Given the description of an element on the screen output the (x, y) to click on. 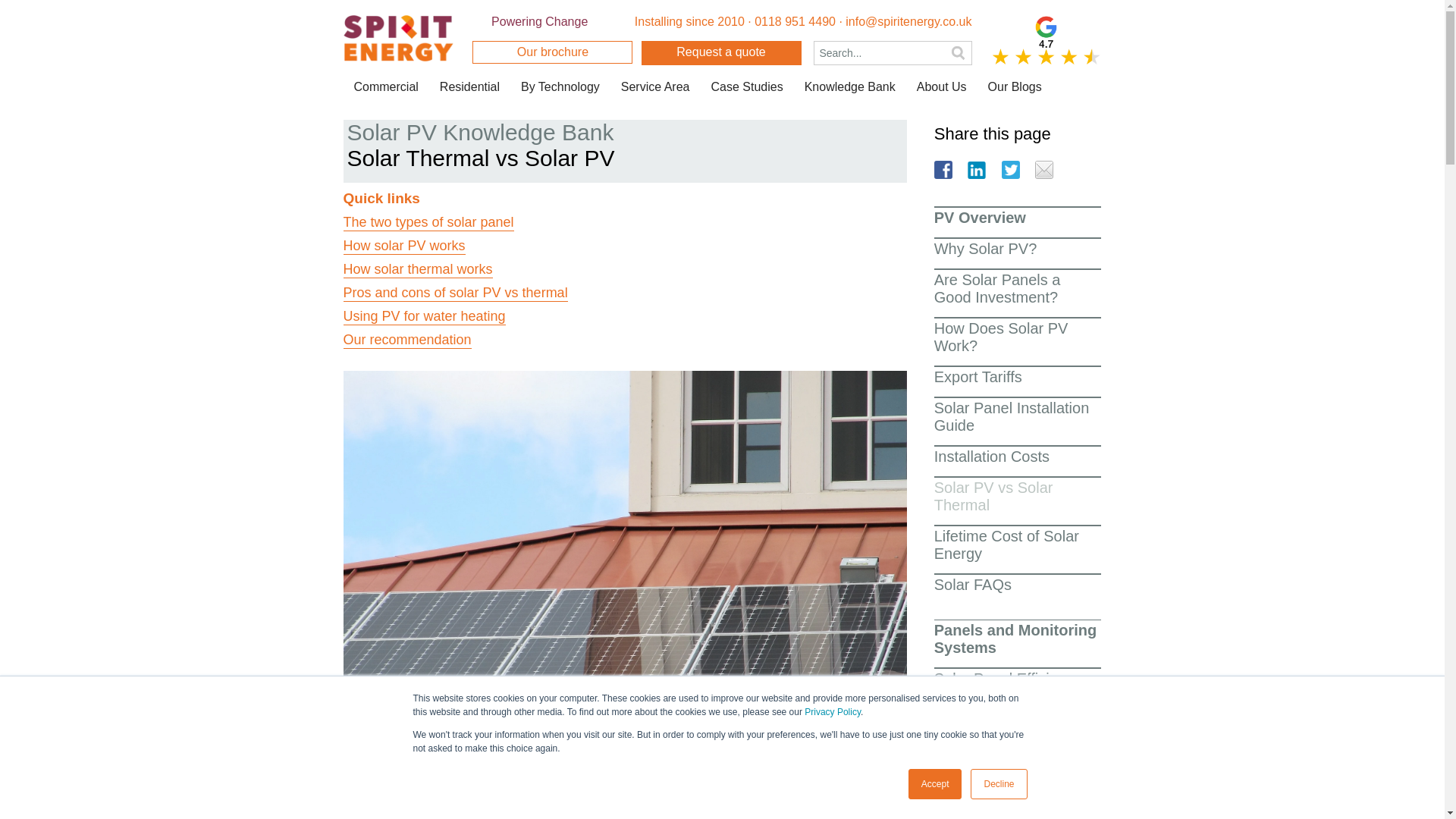
Decline (998, 784)
Spirit Energy header logo (397, 38)
Request a quote (722, 52)
Our brochure (551, 51)
Residential (470, 87)
By Technology (560, 87)
Google Header Graphic (1045, 40)
Commercial (385, 87)
Request a quote (722, 52)
Privacy Policy (832, 711)
Accept (935, 784)
Our brochure (551, 51)
